Given the description of an element on the screen output the (x, y) to click on. 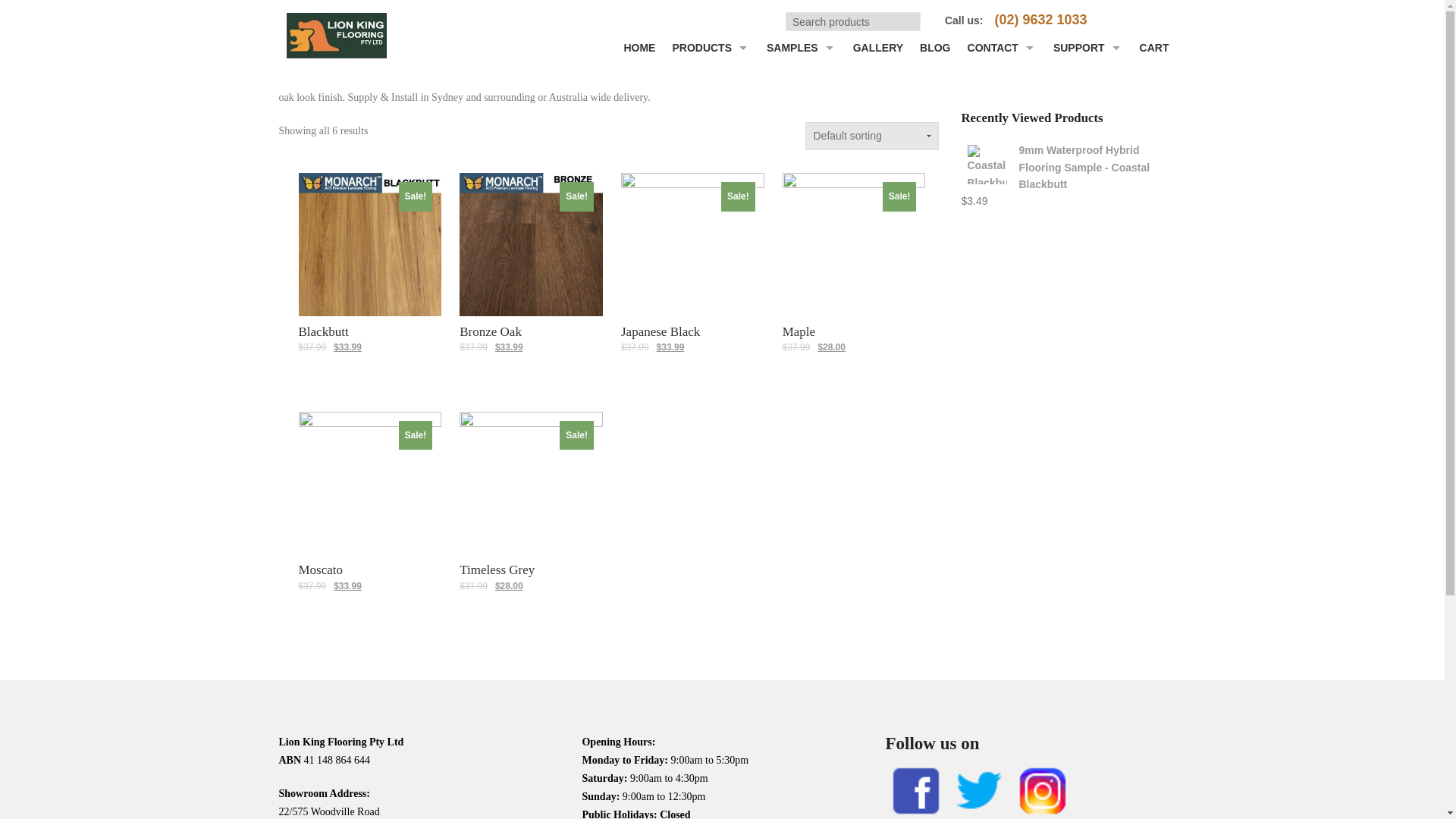
Lion King Flooring (336, 32)
HOME (638, 51)
Lion King Flooring Homepage (638, 51)
PRODUCTS (710, 51)
